Given the description of an element on the screen output the (x, y) to click on. 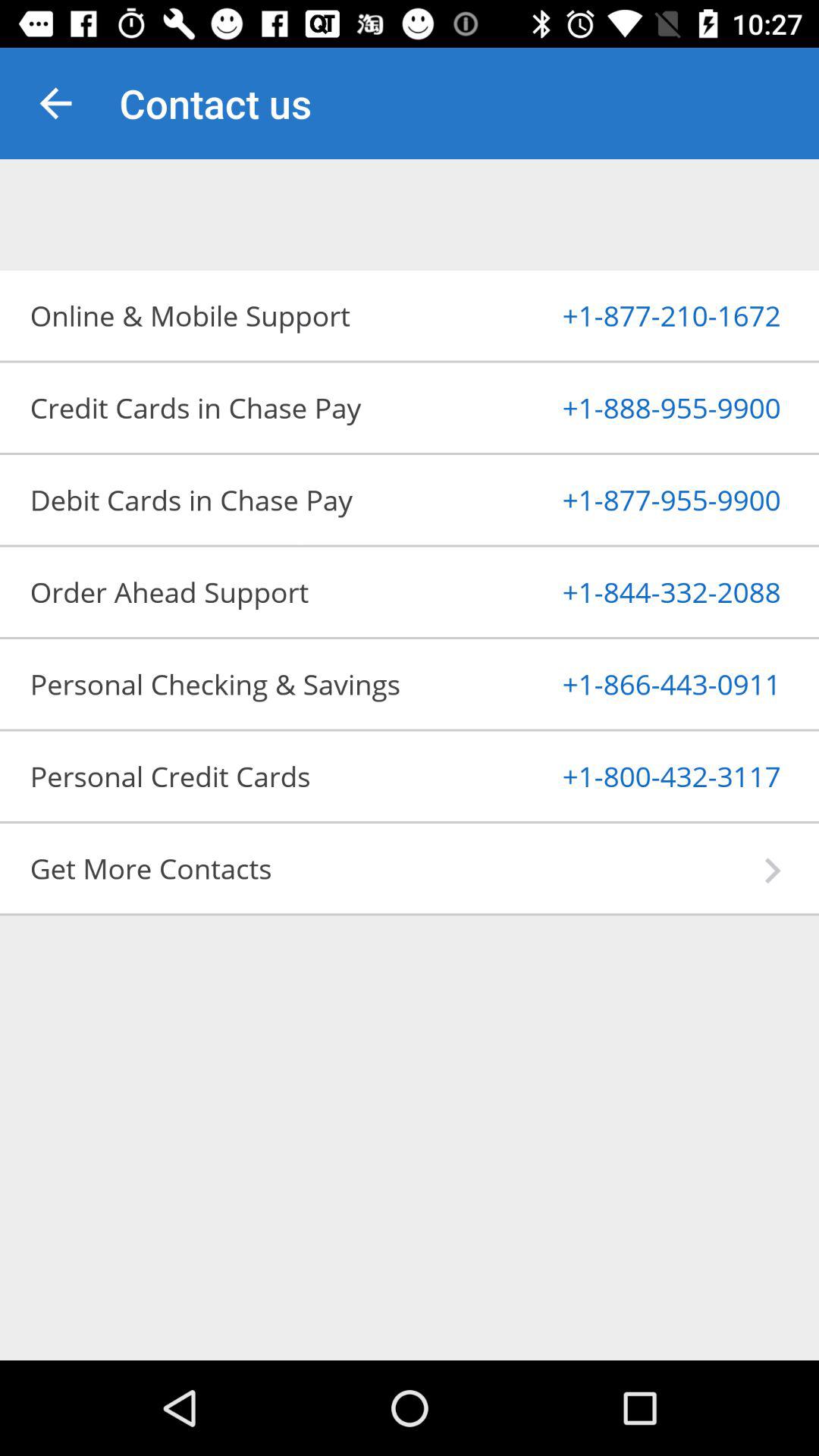
flip to the 1 800 432 (634, 776)
